Given the description of an element on the screen output the (x, y) to click on. 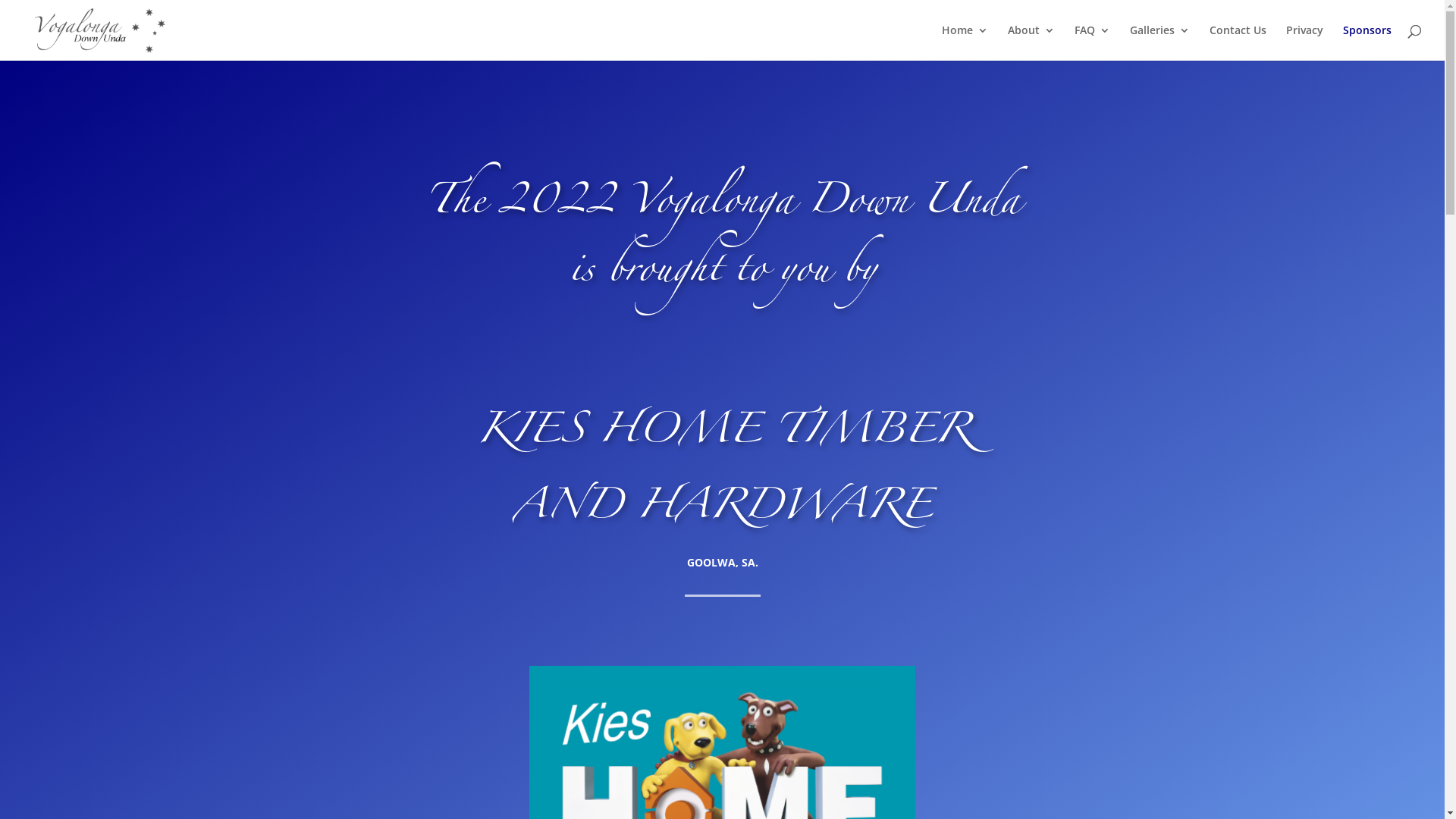
Privacy Element type: text (1304, 42)
Contact Us Element type: text (1237, 42)
Home Element type: text (964, 42)
Galleries Element type: text (1159, 42)
Sponsors Element type: text (1367, 42)
FAQ Element type: text (1092, 42)
About Element type: text (1030, 42)
